Given the description of an element on the screen output the (x, y) to click on. 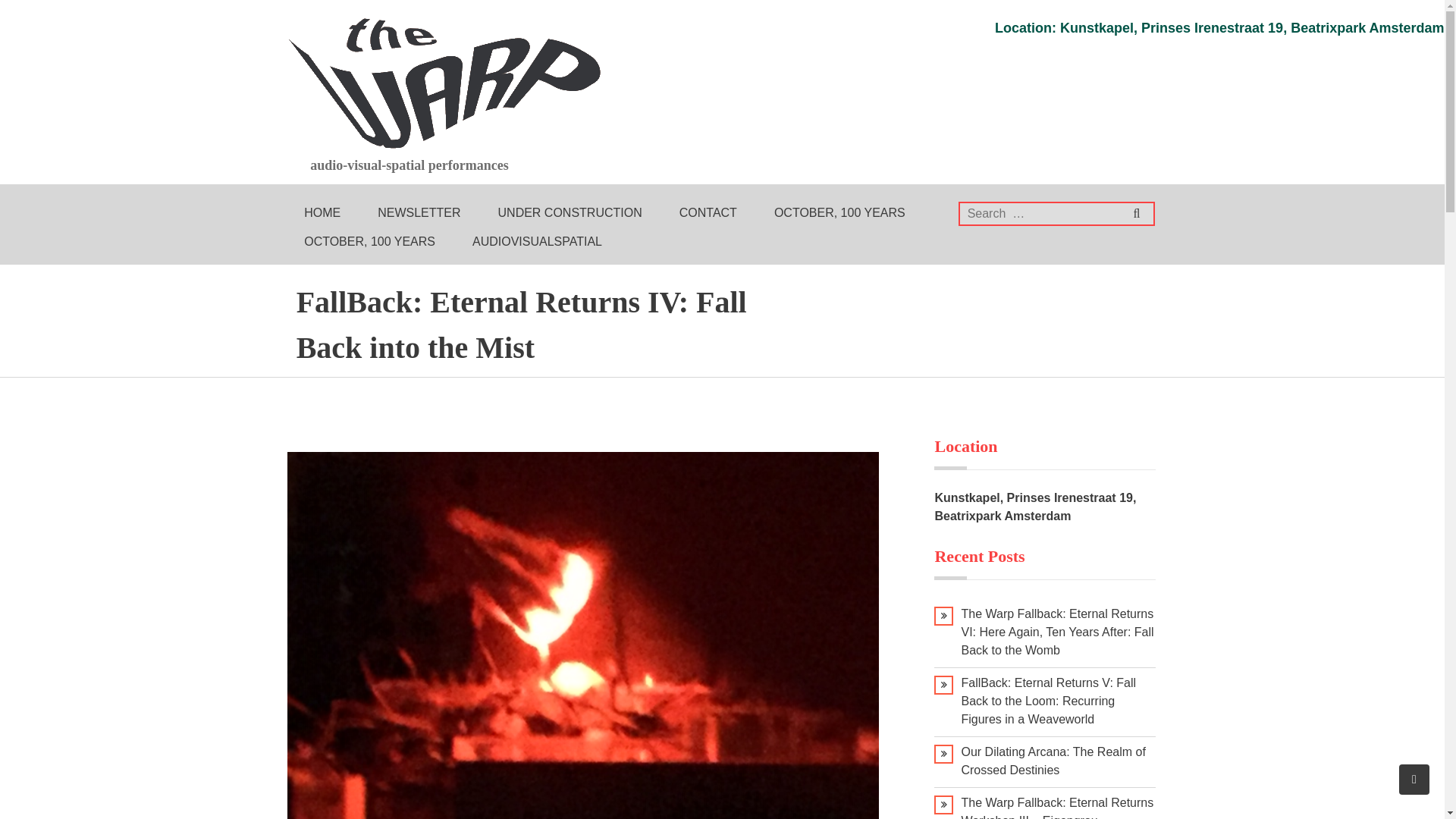
OCTOBER, 100 YEARS (368, 241)
AUDIOVISUALSPATIAL (536, 241)
OCTOBER, 100 YEARS (839, 213)
HOME (321, 213)
Subscribe (1397, 12)
NEWSLETTER (419, 213)
UNDER CONSTRUCTION (570, 213)
Our Dilating Arcana: The Realm of Crossed Destinies (1052, 760)
CONTACT (708, 213)
